Given the description of an element on the screen output the (x, y) to click on. 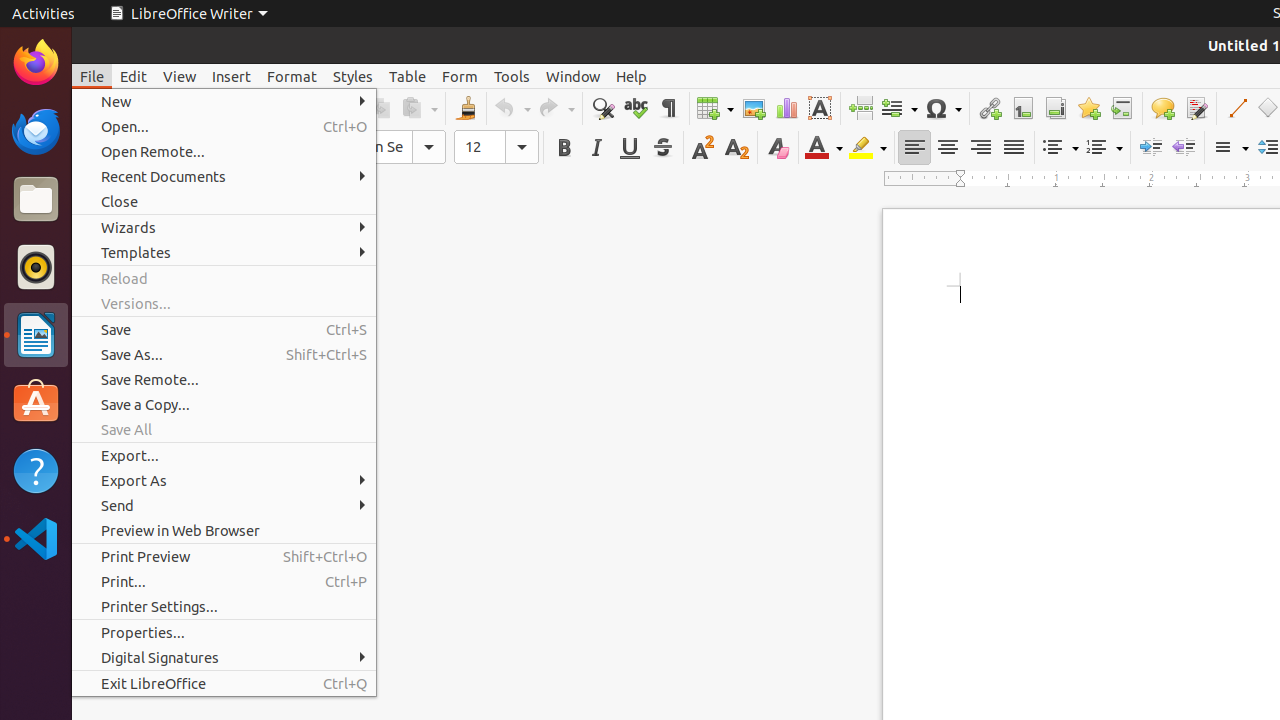
Spelling Element type: push-button (635, 108)
Export... Element type: menu-item (224, 455)
Print... Element type: menu-item (224, 581)
Find & Replace Element type: toggle-button (602, 108)
Save All Element type: menu-item (224, 429)
